Given the description of an element on the screen output the (x, y) to click on. 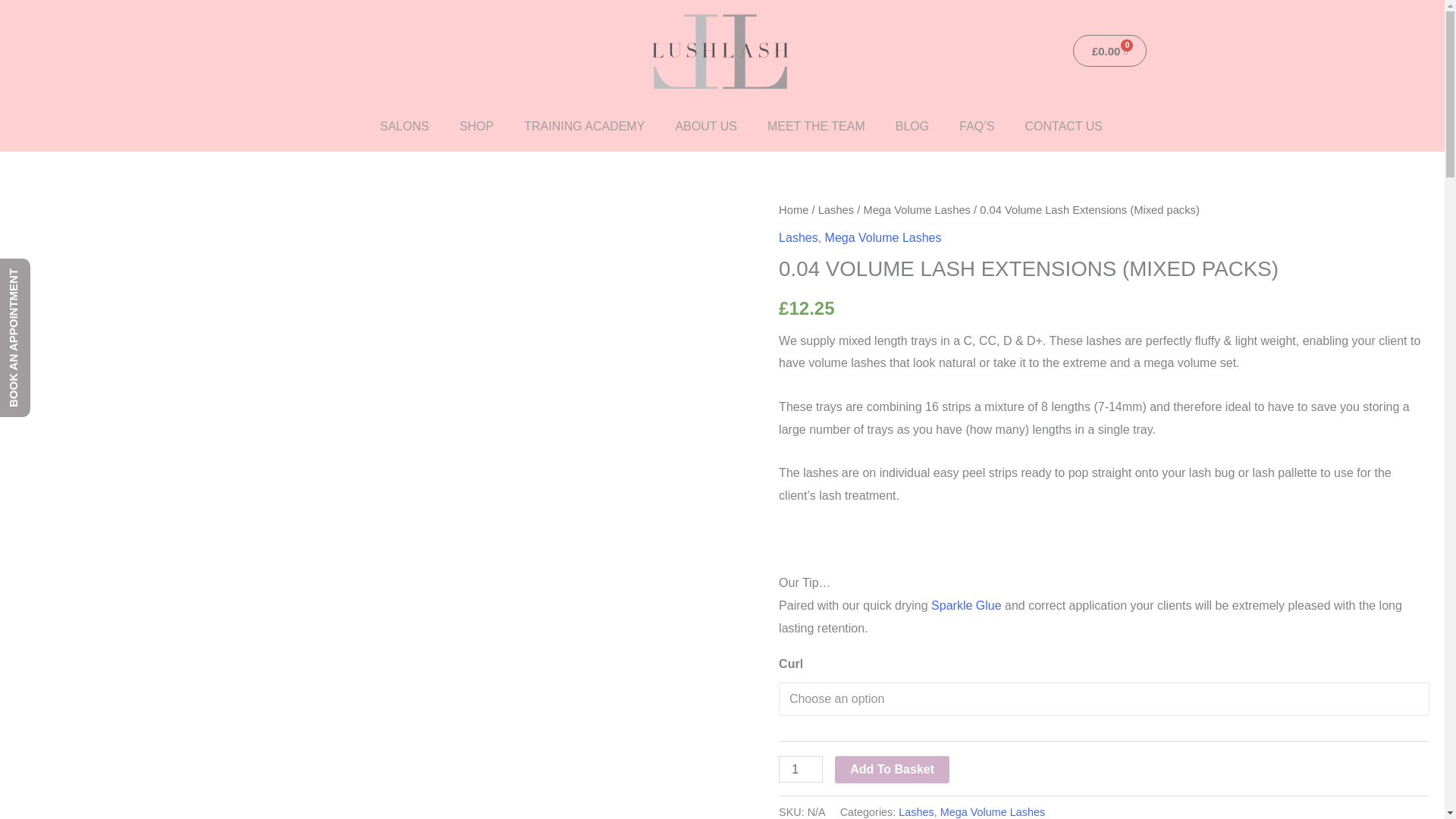
SALONS (404, 126)
1 (800, 768)
SHOP (476, 126)
